Given the description of an element on the screen output the (x, y) to click on. 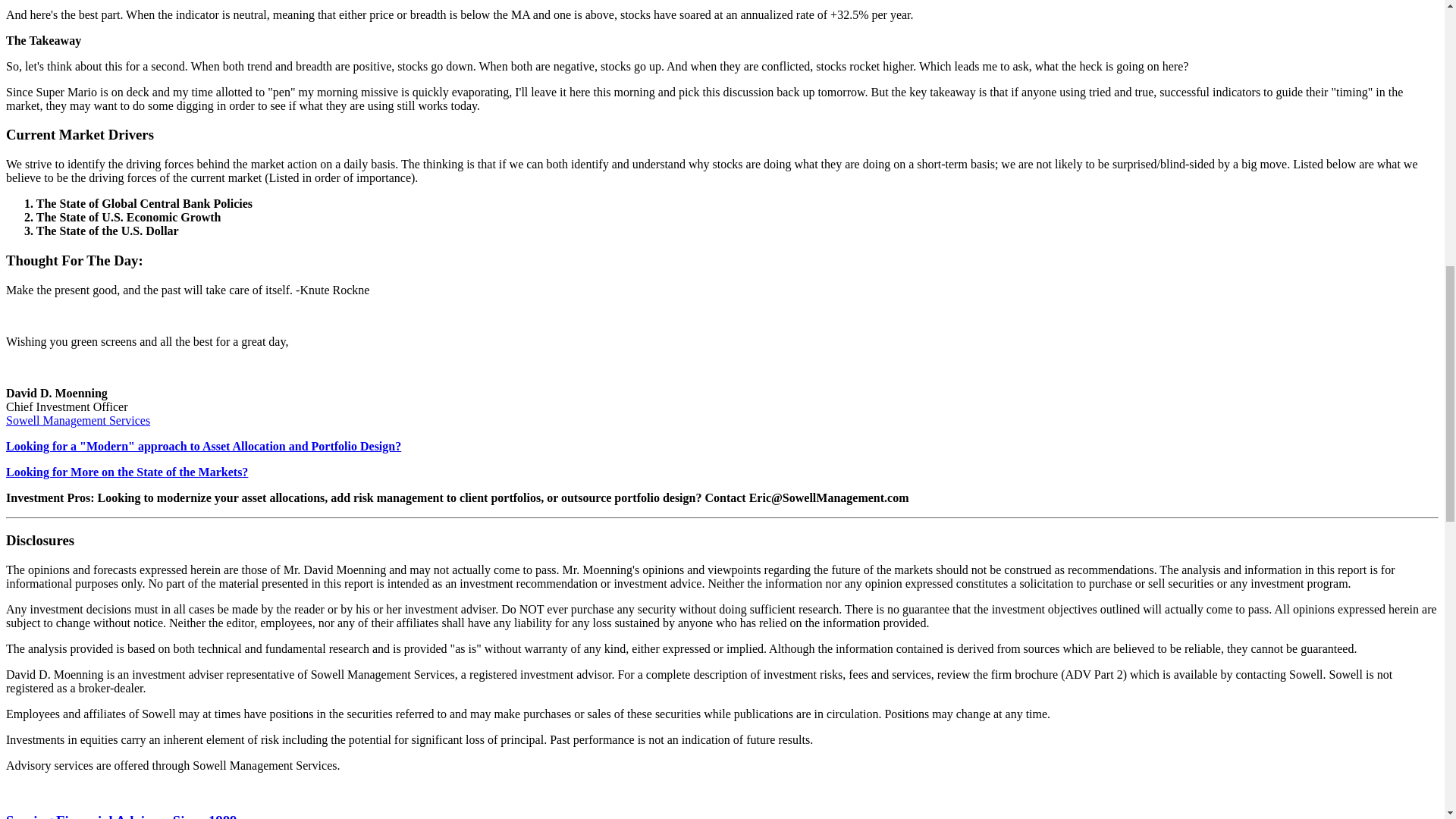
Looking for More on the State of the Markets? (126, 472)
Sowell Management Services (77, 420)
